Given the description of an element on the screen output the (x, y) to click on. 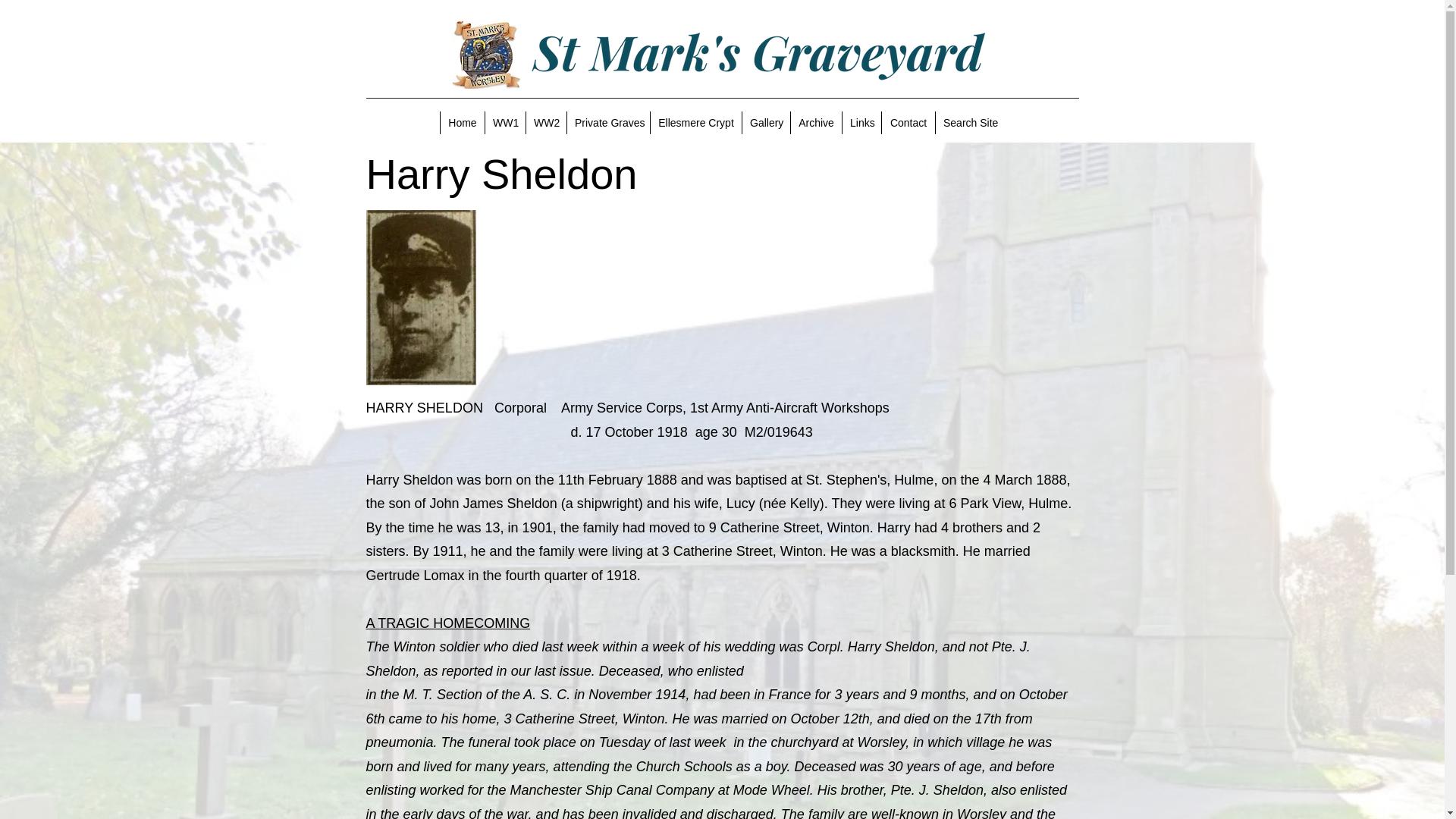
Home (461, 122)
St Mark's Graveyard, Worsley (756, 54)
Links (860, 122)
WW2 (545, 122)
St Mark's Worsley (486, 54)
Search Site (969, 122)
Contact (907, 122)
Ellesmere Crypt (695, 122)
WW1 (504, 122)
